Given the description of an element on the screen output the (x, y) to click on. 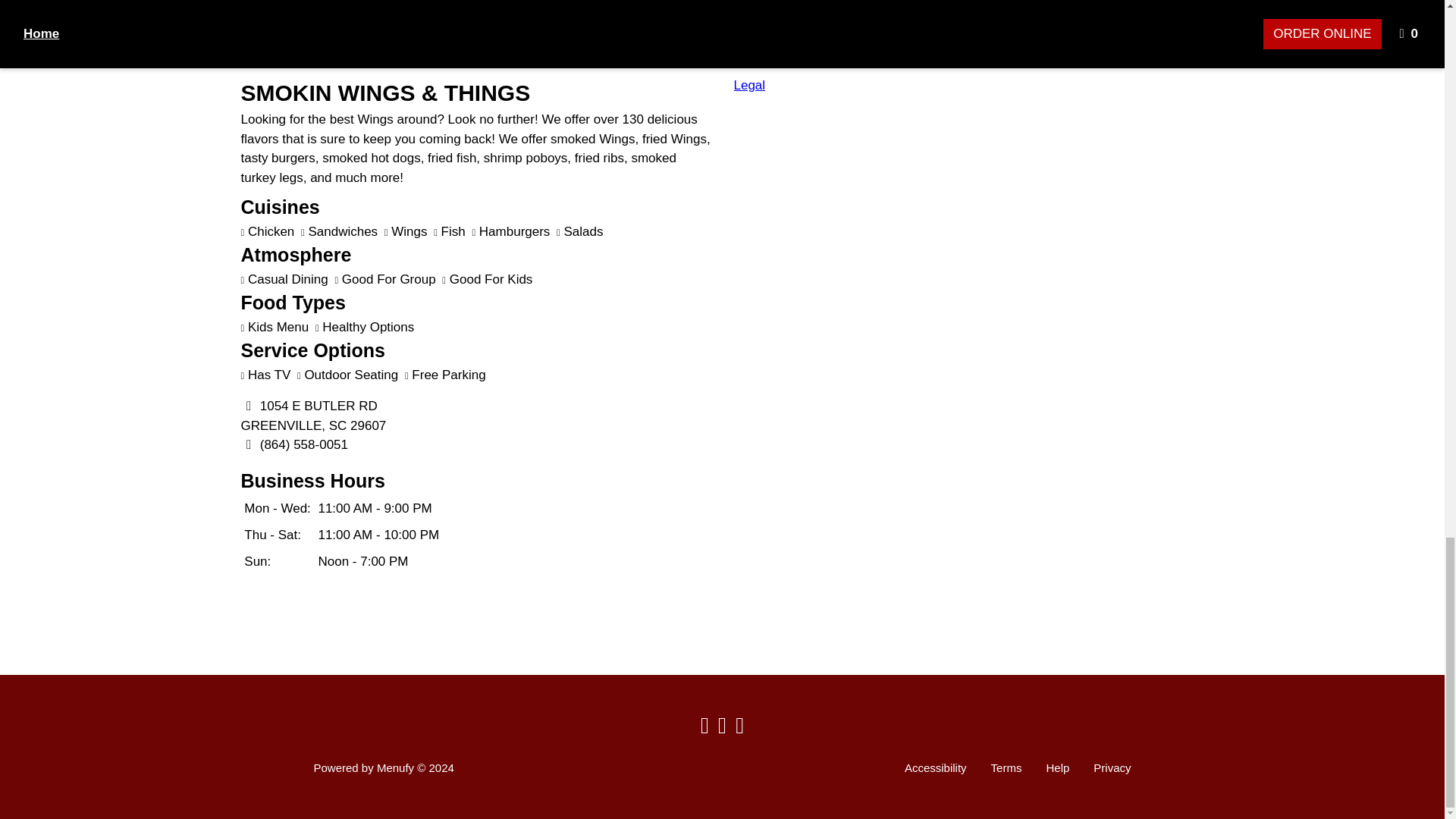
Help (1057, 767)
Privacy (1111, 767)
Menufy (395, 767)
Terms (1005, 767)
Accessibility (935, 767)
